Given the description of an element on the screen output the (x, y) to click on. 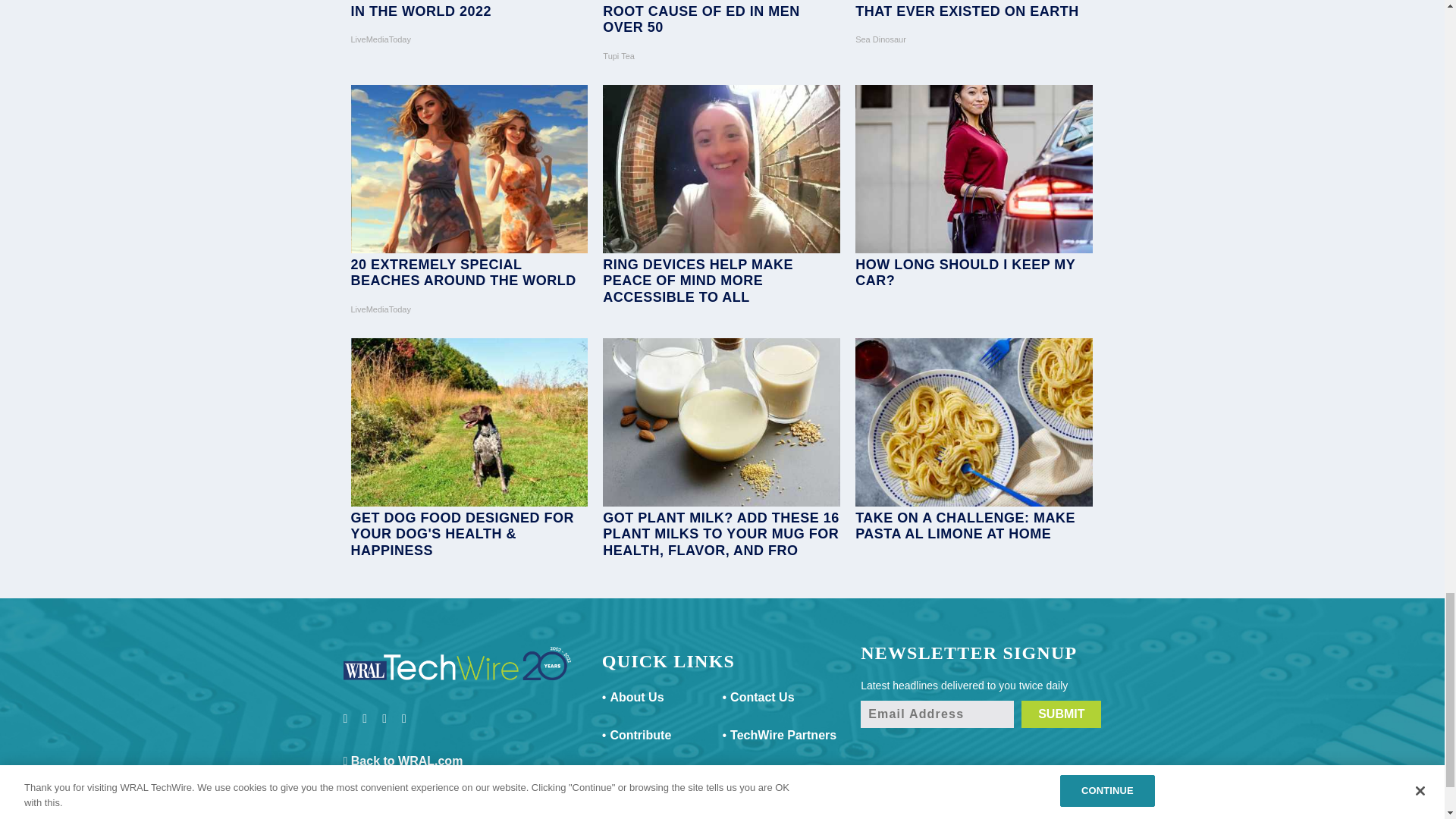
SUBMIT (1061, 714)
